Given the description of an element on the screen output the (x, y) to click on. 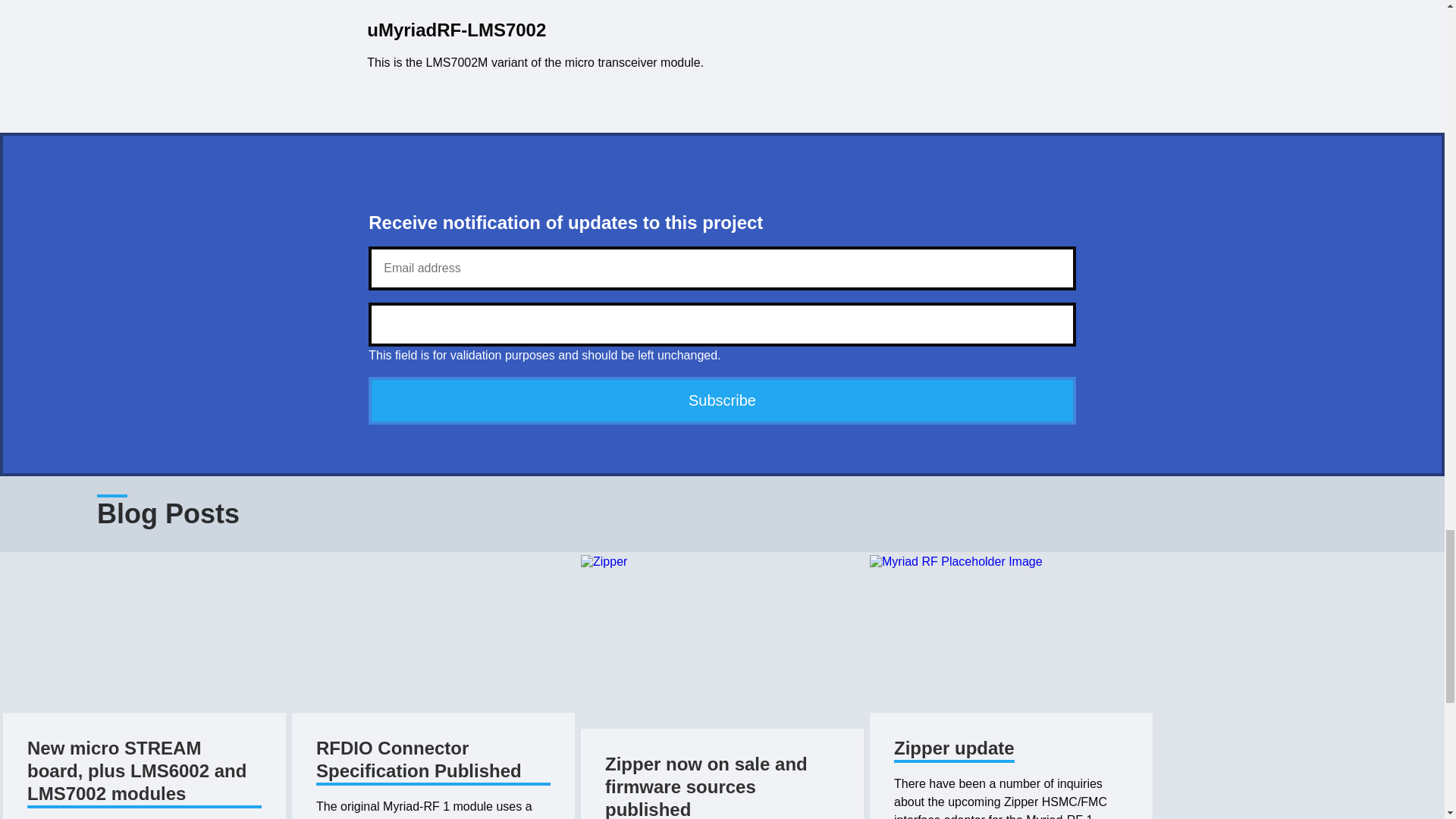
Zipper update (953, 749)
Zipper now on sale and firmware sources published (722, 785)
New micro STREAM board, plus LMS6002 and LMS7002 modules (144, 772)
Subscribe (721, 400)
RFDIO Connector Specification Published (432, 761)
Subscribe (721, 400)
